Given the description of an element on the screen output the (x, y) to click on. 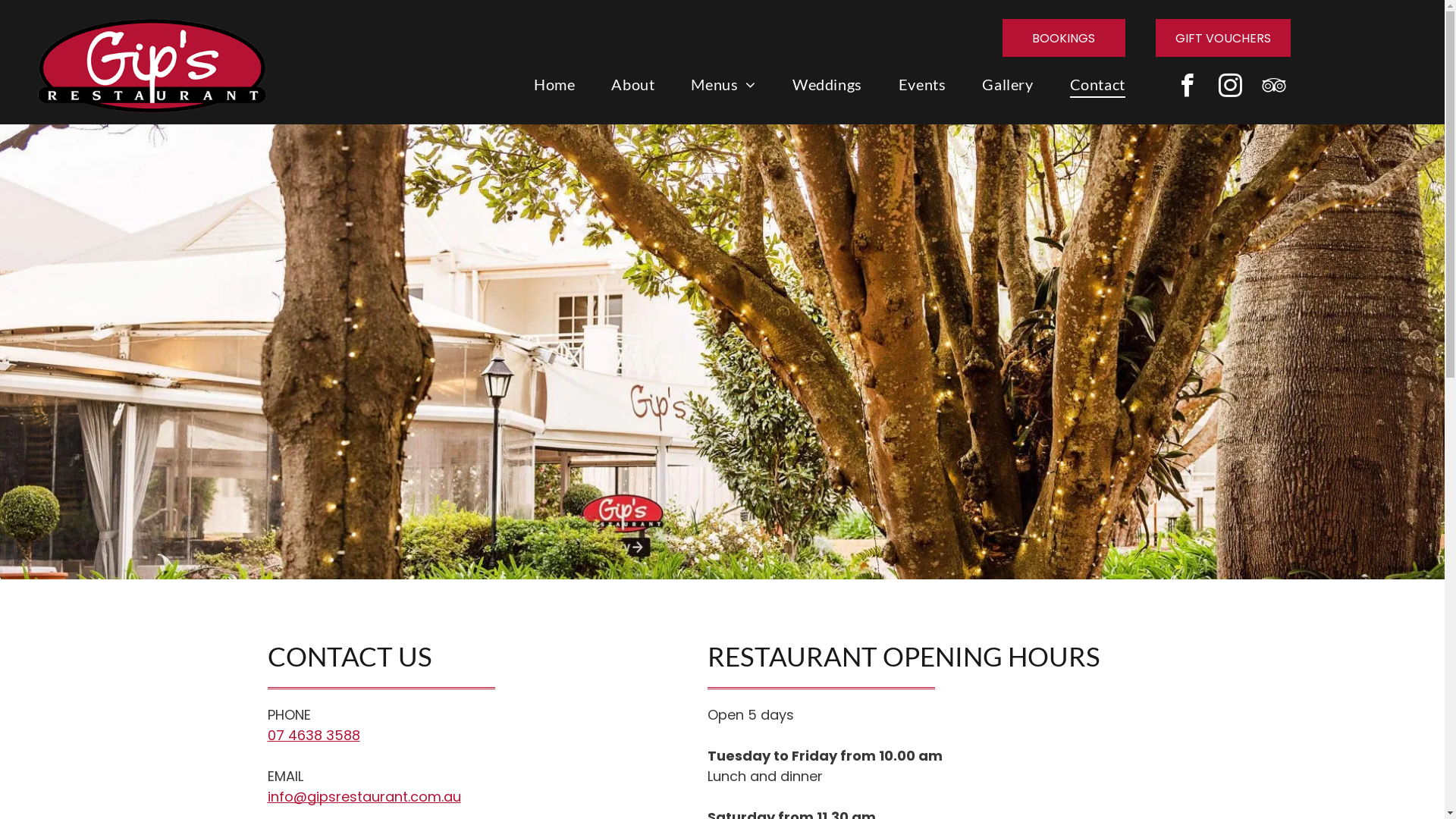
GIFT VOUCHERS Element type: text (1222, 37)
Events Element type: text (922, 84)
Gallery Element type: text (1007, 84)
Contact Element type: text (1097, 84)
Weddings Element type: text (827, 84)
Menus Element type: text (723, 84)
BOOKINGS Element type: text (1063, 37)
info@gipsrestaurant.com.au Element type: text (363, 796)
About Element type: text (632, 84)
07 4638 3588 Element type: text (312, 734)
Home Element type: text (554, 84)
